Given the description of an element on the screen output the (x, y) to click on. 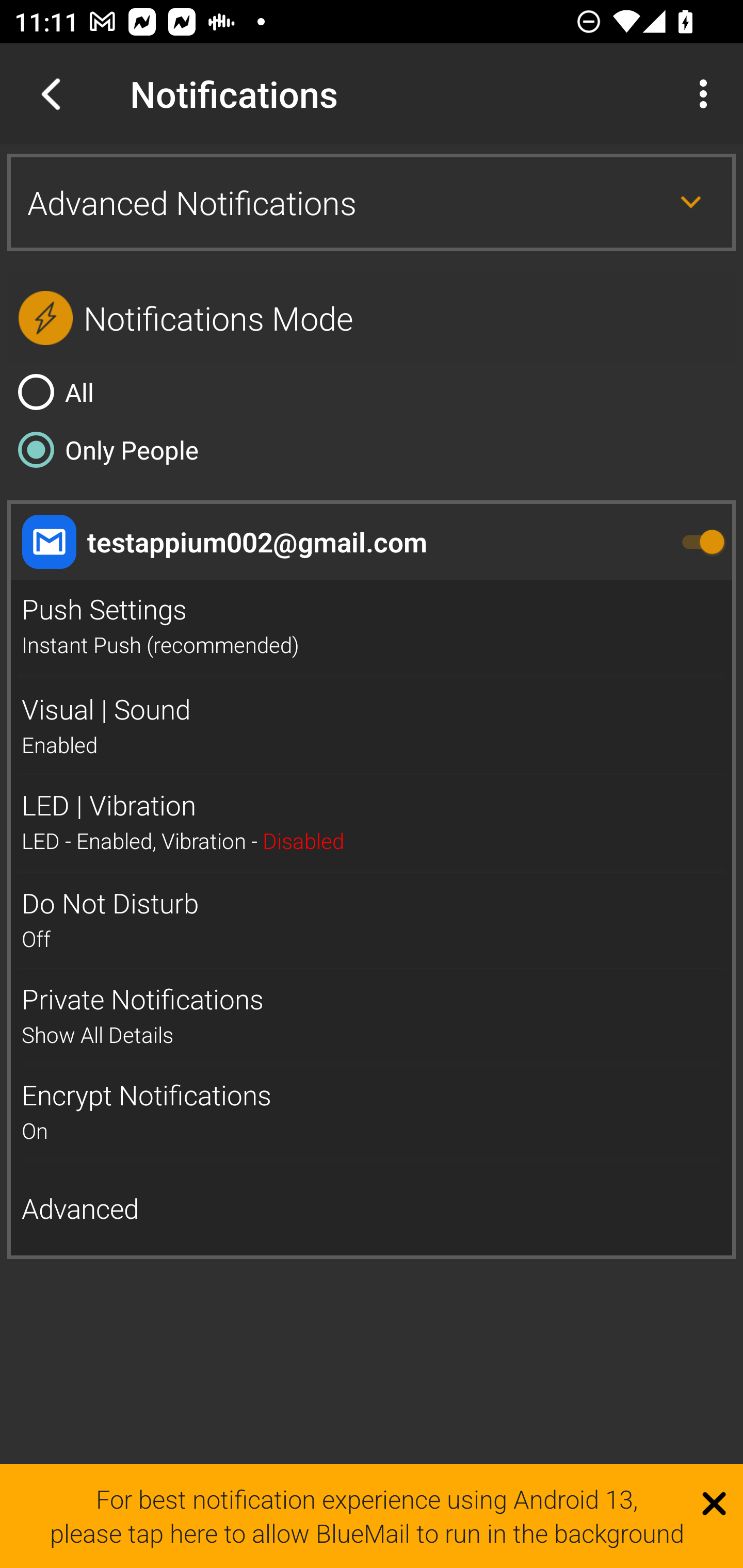
Navigate up (50, 93)
More options (706, 93)
Advanced Notifications (371, 201)
All (371, 391)
Only People (371, 449)
Push Settings Instant Push (recommended) (371, 627)
Visual | Sound Enabled (371, 726)
Do Not Disturb Off (371, 920)
Private Notifications Show All Details (371, 1016)
Encrypt Notifications On (371, 1112)
Advanced (371, 1208)
